Given the description of an element on the screen output the (x, y) to click on. 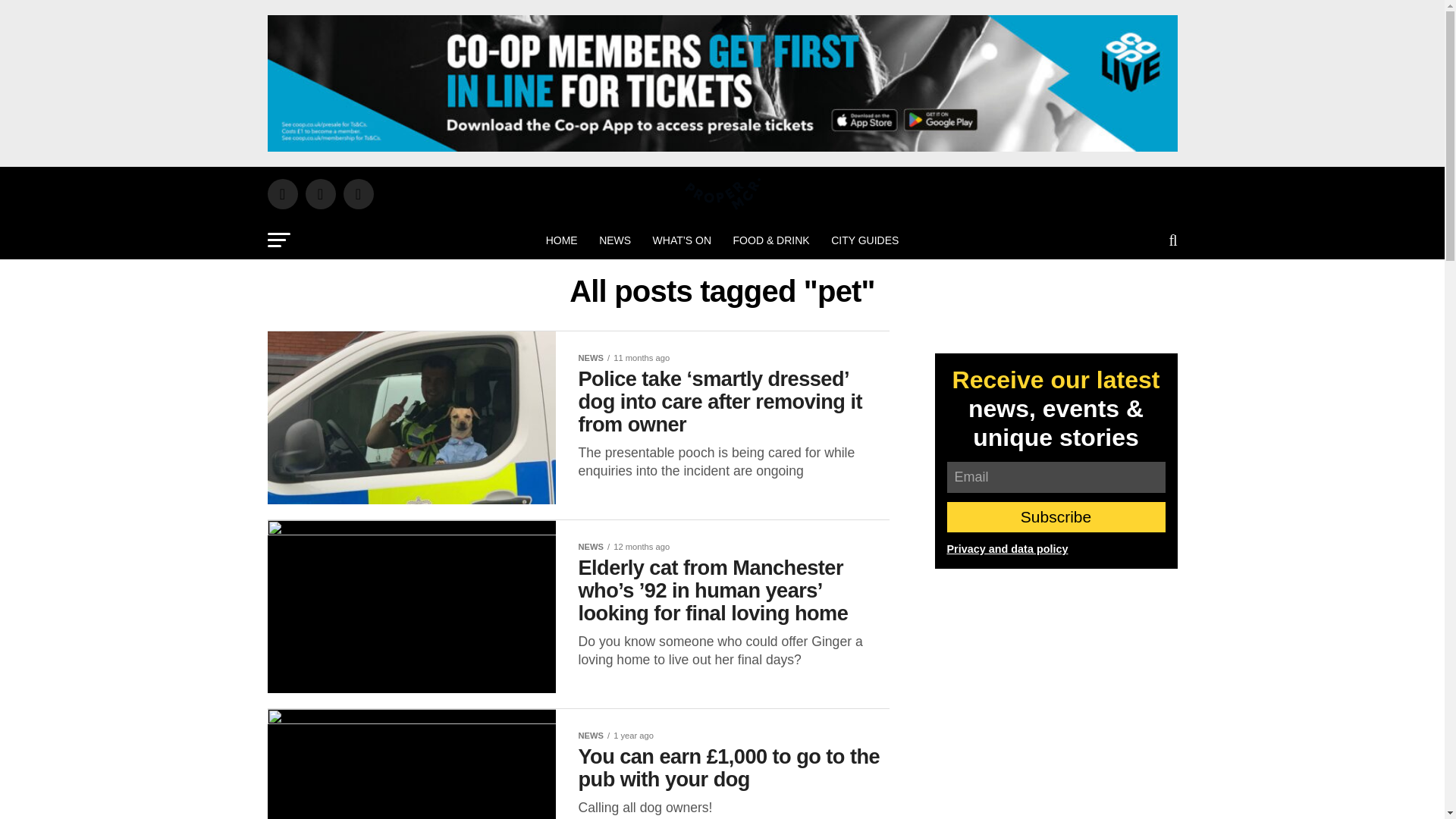
Privacy and data policy (1006, 548)
CITY GUIDES (864, 240)
HOME (561, 240)
Subscribe (1055, 517)
Subscribe (1055, 517)
NEWS (614, 240)
